Given the description of an element on the screen output the (x, y) to click on. 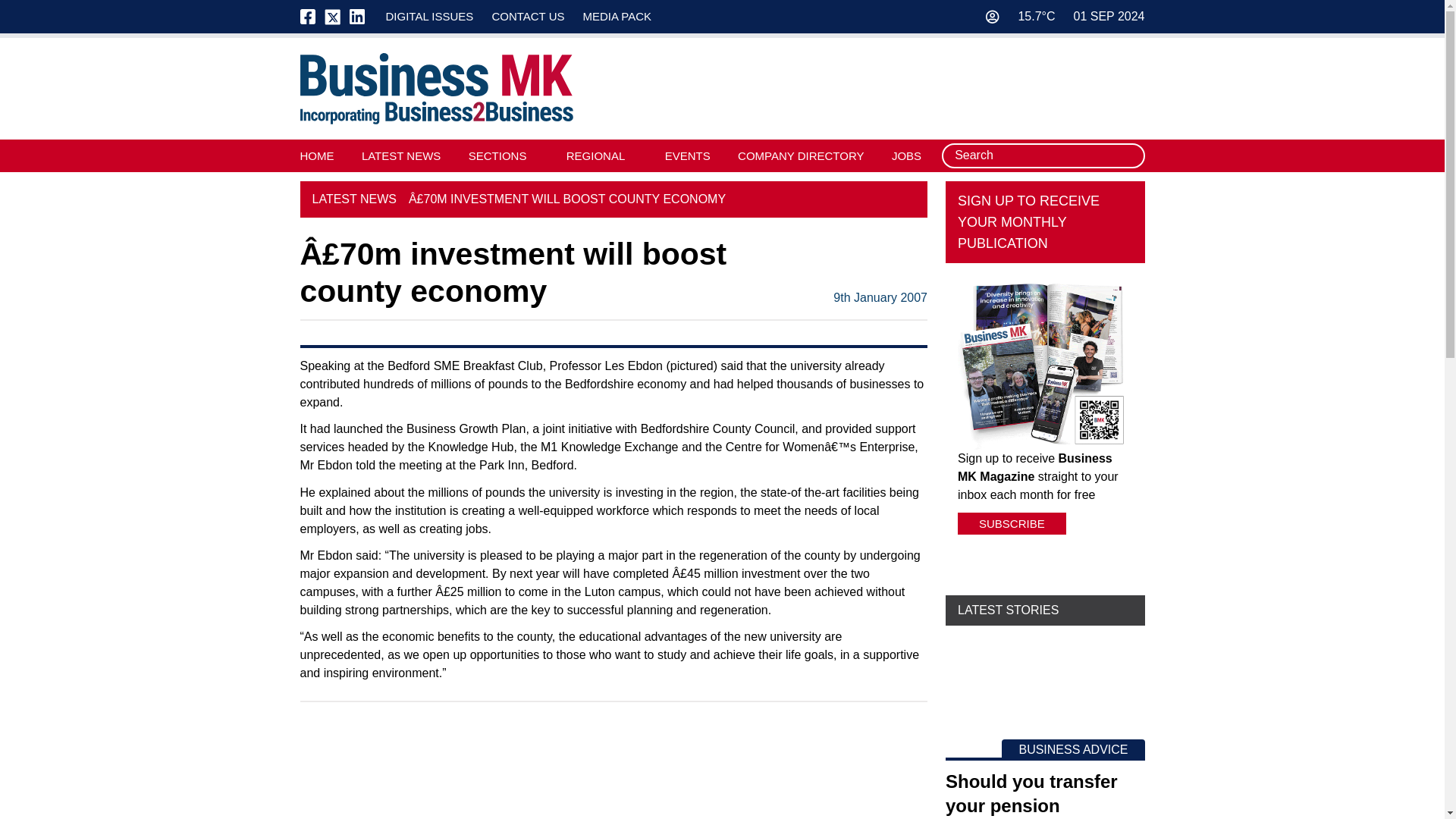
Business mk on LinkedIn (356, 16)
Search (1128, 155)
Home (436, 88)
DIGITAL ISSUES (429, 15)
Business MK on Facebook (311, 16)
SECTIONS (497, 155)
See all  (910, 346)
LATEST NEWS (401, 155)
MEDIA PACK (616, 15)
Business MK on Twitter (332, 17)
